Given the description of an element on the screen output the (x, y) to click on. 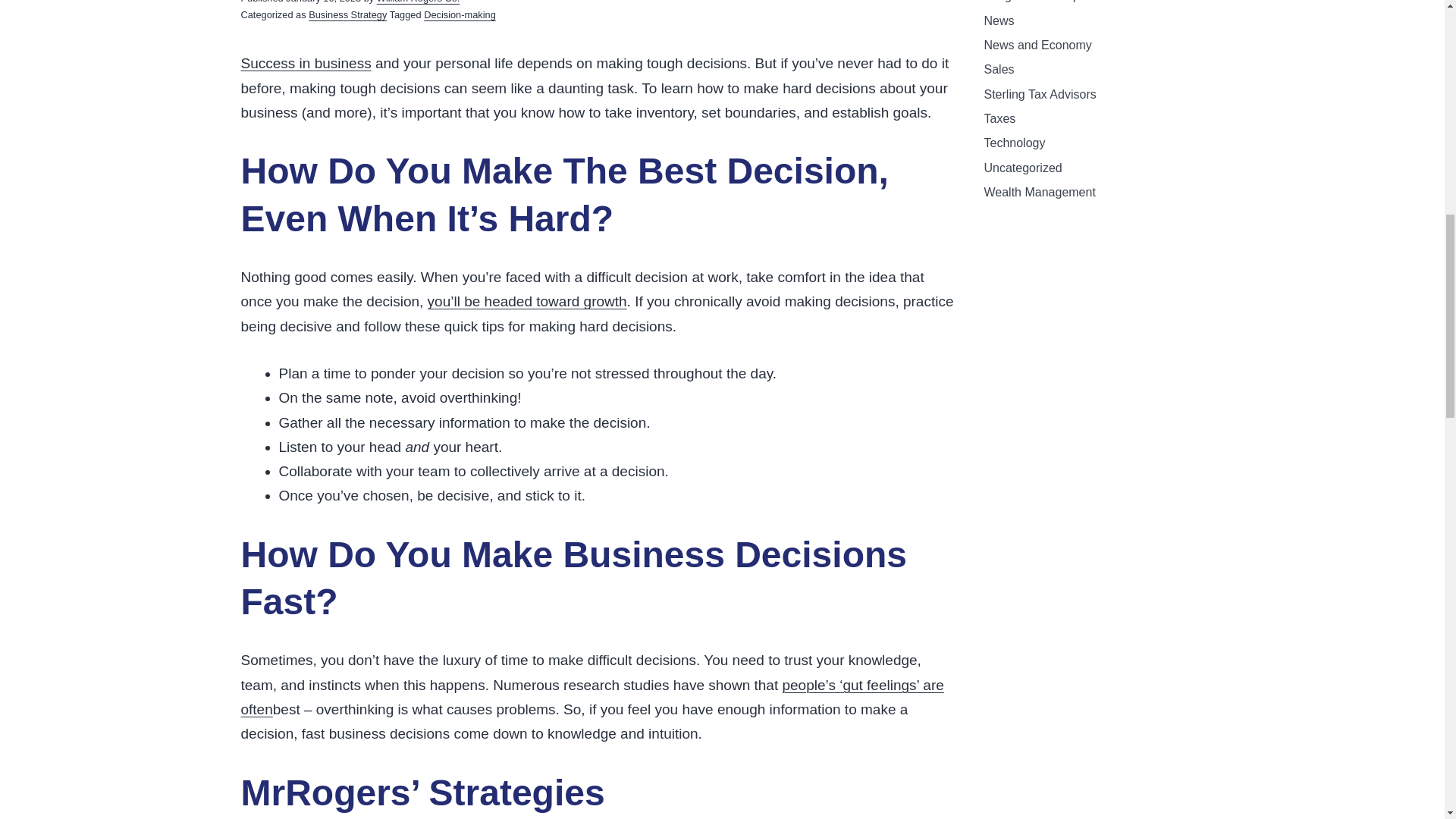
Decision-making (459, 14)
Success in business (306, 63)
Business Strategy (347, 14)
William Rogers Co. (418, 2)
